Given the description of an element on the screen output the (x, y) to click on. 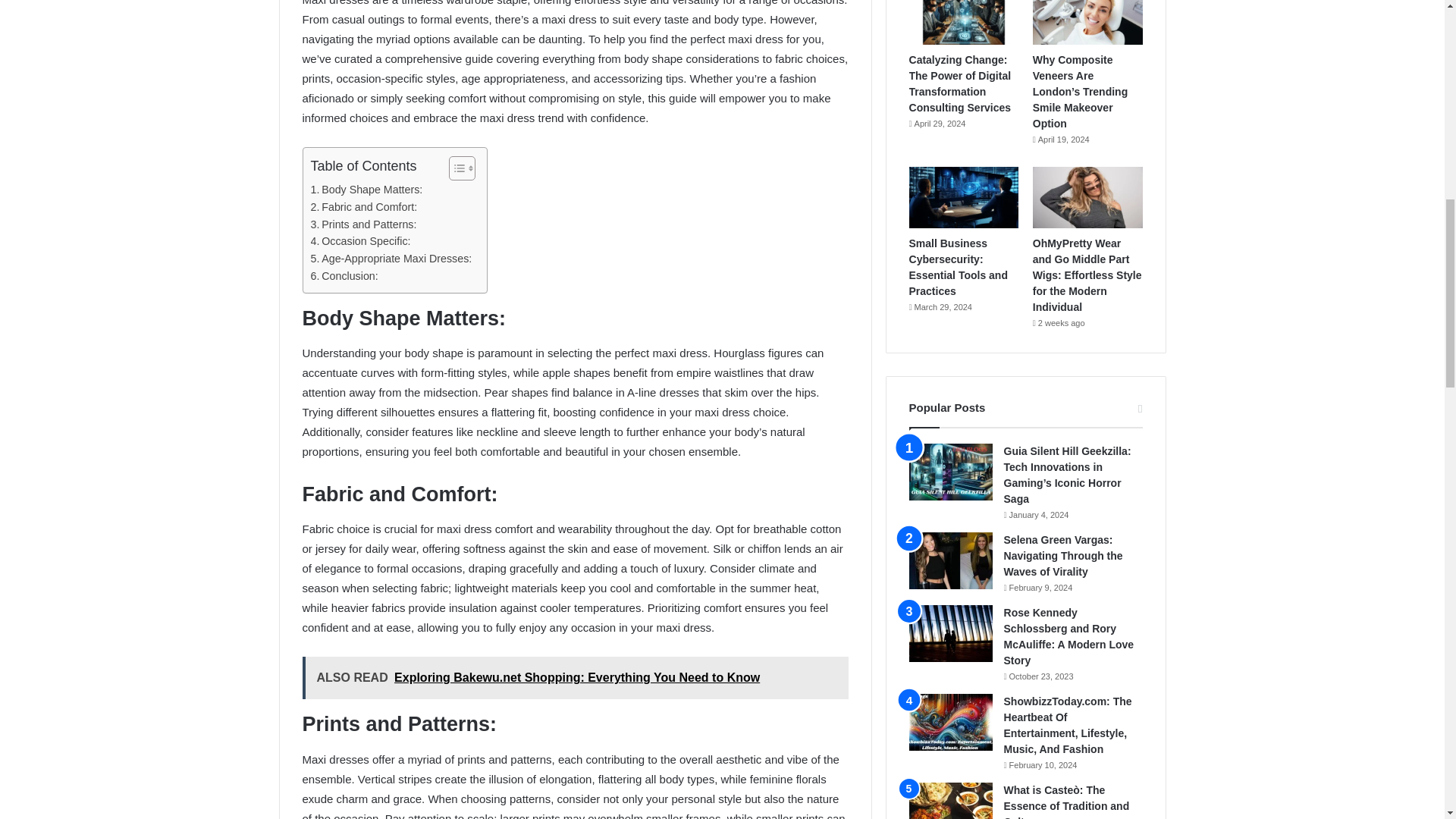
Prints and Patterns: (363, 224)
Conclusion: (344, 276)
Occasion Specific: (360, 241)
Prints and Patterns: (363, 224)
Age-Appropriate Maxi Dresses: (391, 258)
Occasion Specific: (360, 241)
Body Shape Matters: (367, 189)
Age-Appropriate Maxi Dresses: (391, 258)
Fabric and Comfort: (364, 207)
Fabric and Comfort: (364, 207)
Body Shape Matters: (367, 189)
Conclusion: (344, 276)
